Given the description of an element on the screen output the (x, y) to click on. 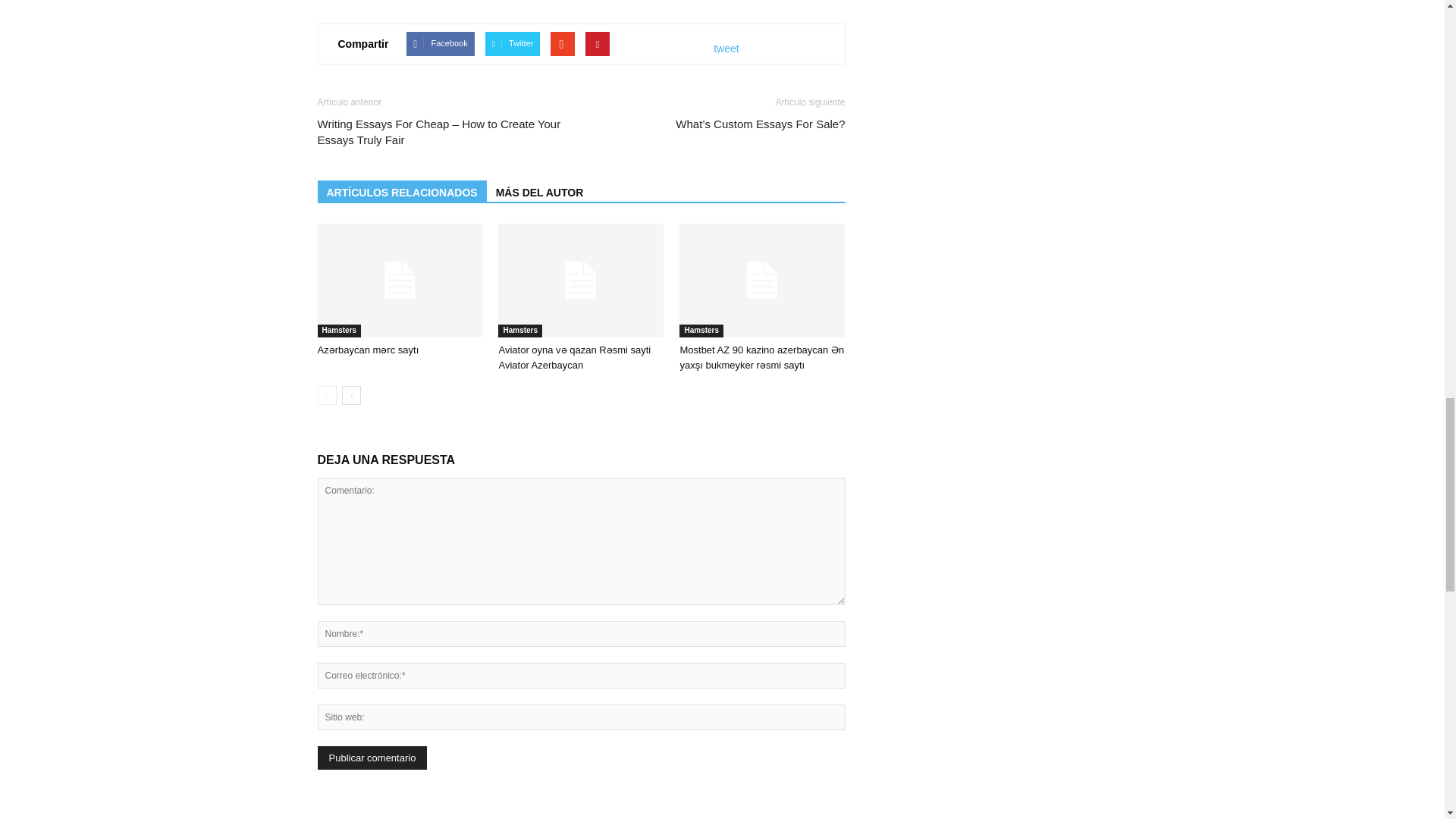
Publicar comentario (371, 757)
